Given the description of an element on the screen output the (x, y) to click on. 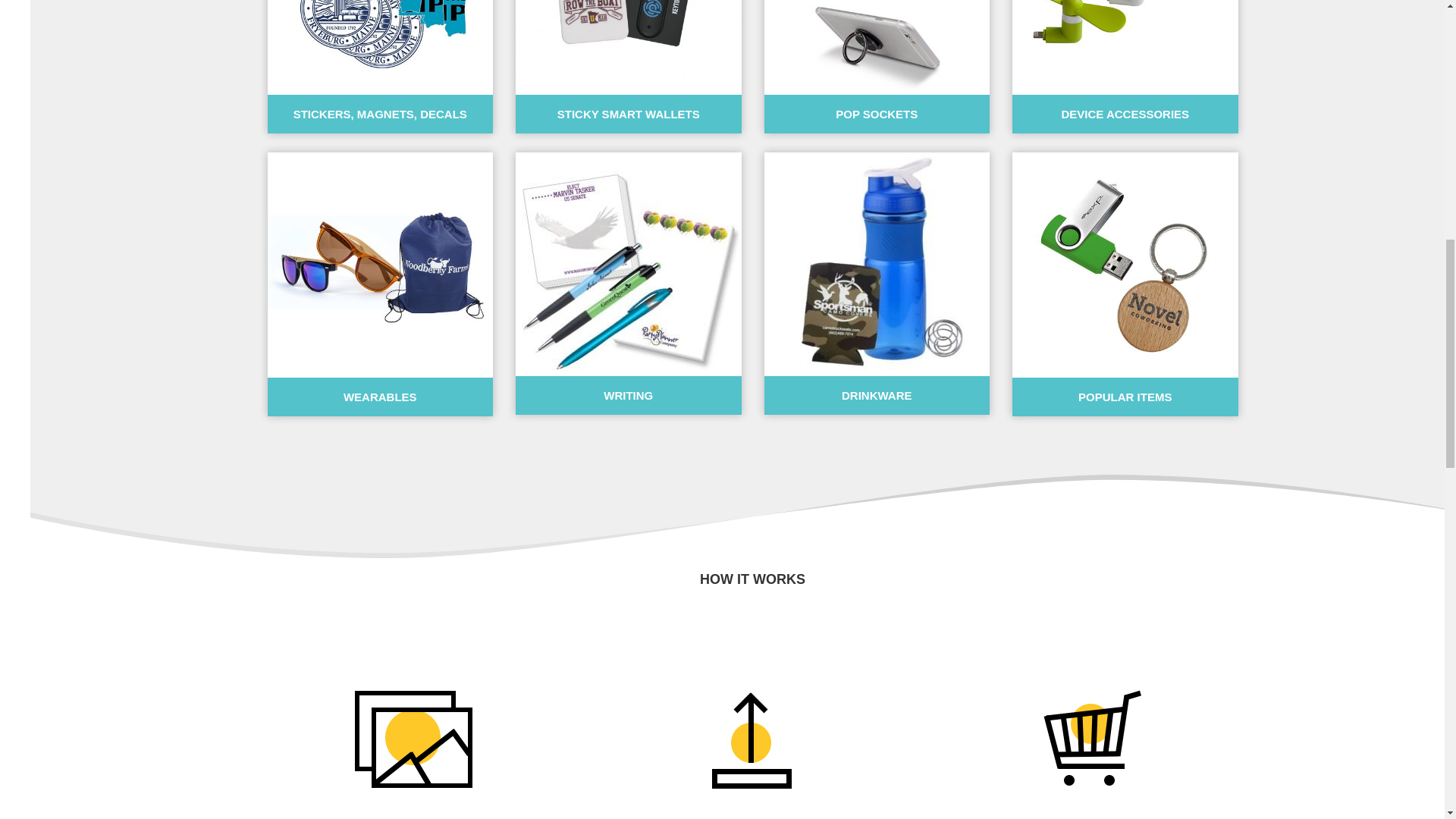
writing (627, 263)
popsockets (877, 47)
2Front image (628, 47)
magnets (379, 47)
upload (751, 737)
checkout (1091, 737)
photo (411, 737)
popular (1125, 265)
wearables (379, 265)
device (1125, 47)
